Given the description of an element on the screen output the (x, y) to click on. 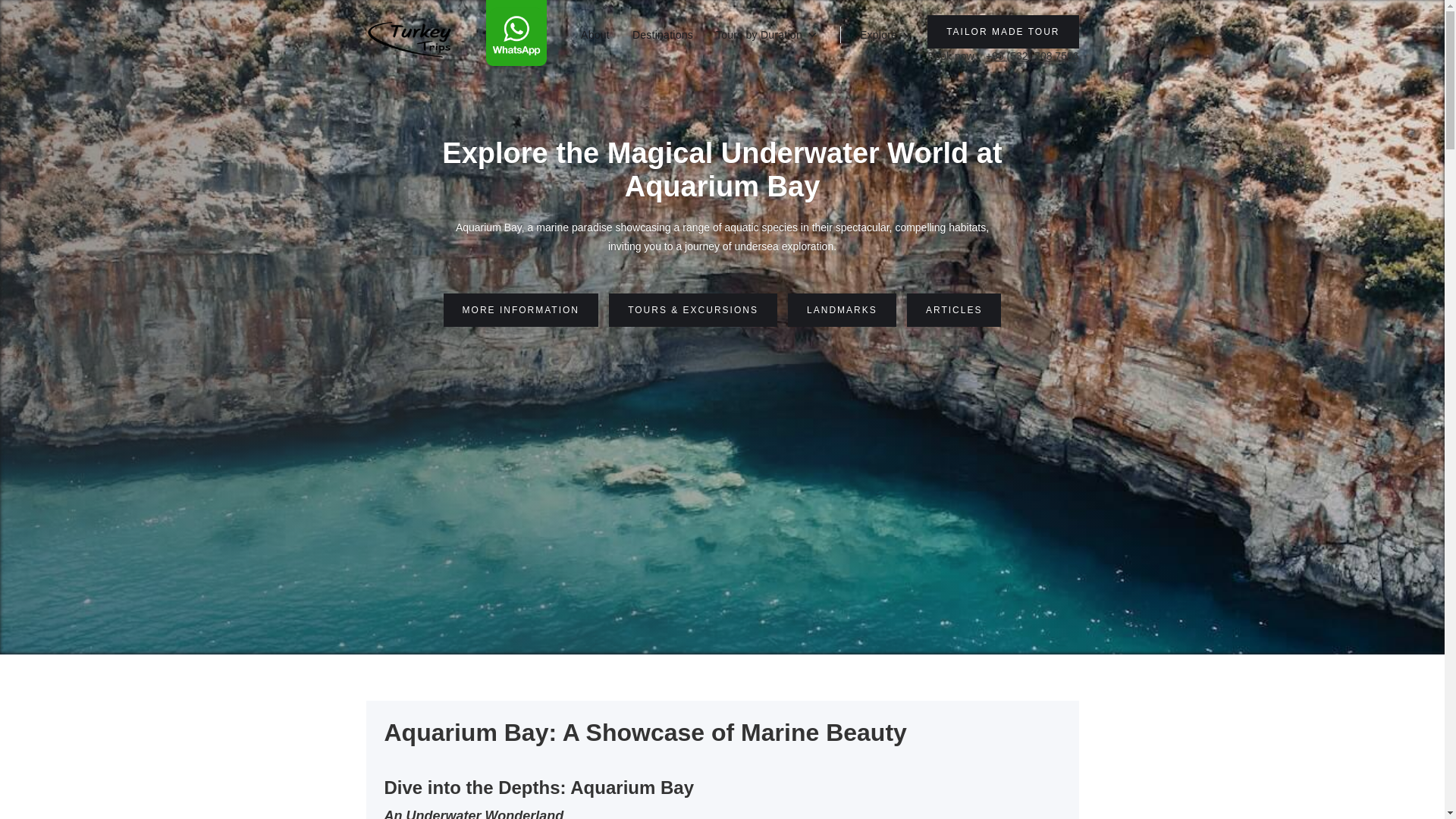
ARTICLES (954, 309)
MORE INFORMATION (521, 309)
Destinations (662, 34)
TAILOR MADE TOUR (1002, 31)
LANDMARKS (841, 309)
About (595, 34)
